Given the description of an element on the screen output the (x, y) to click on. 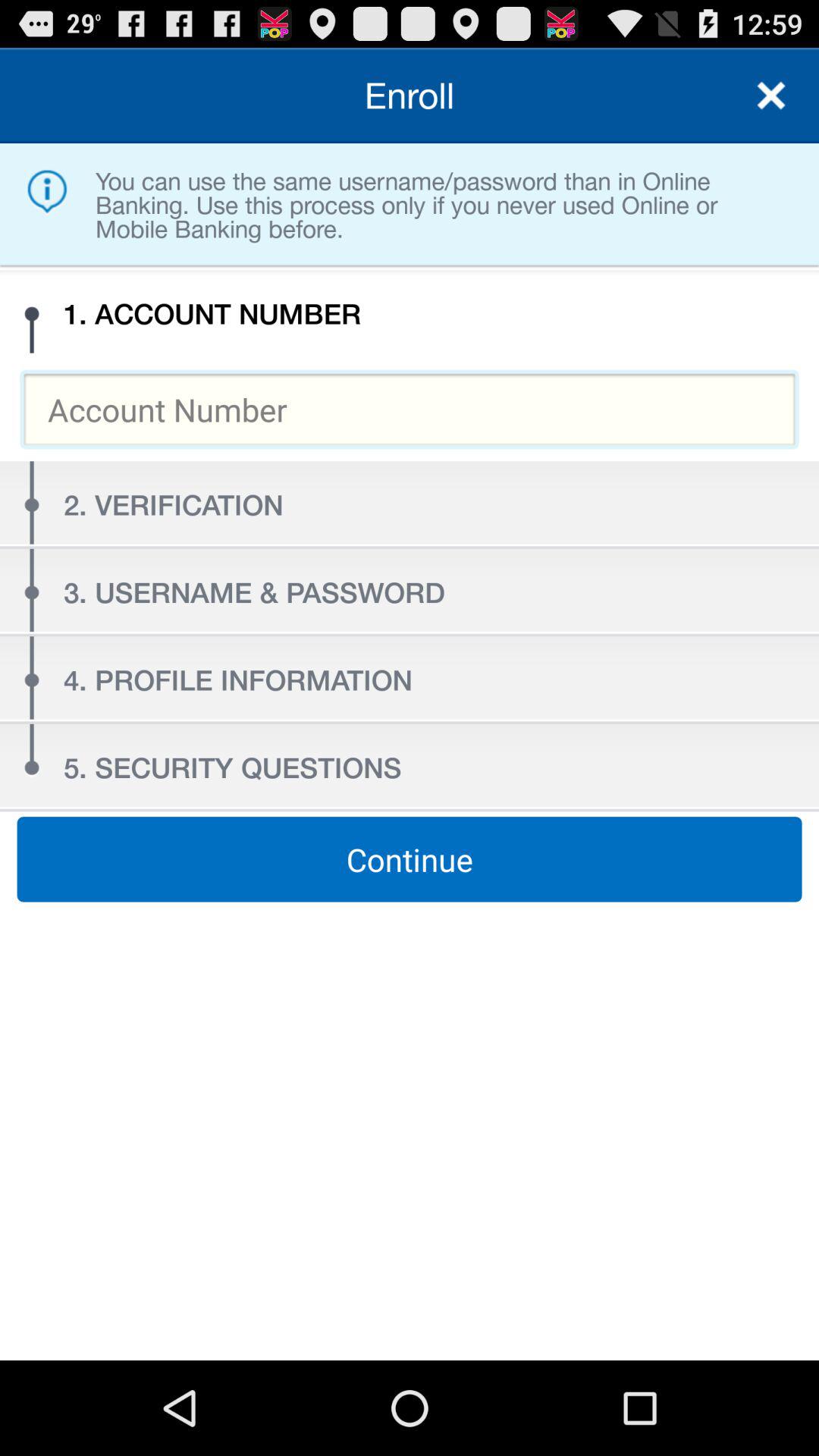
turn on icon to the right of the enroll item (771, 95)
